Given the description of an element on the screen output the (x, y) to click on. 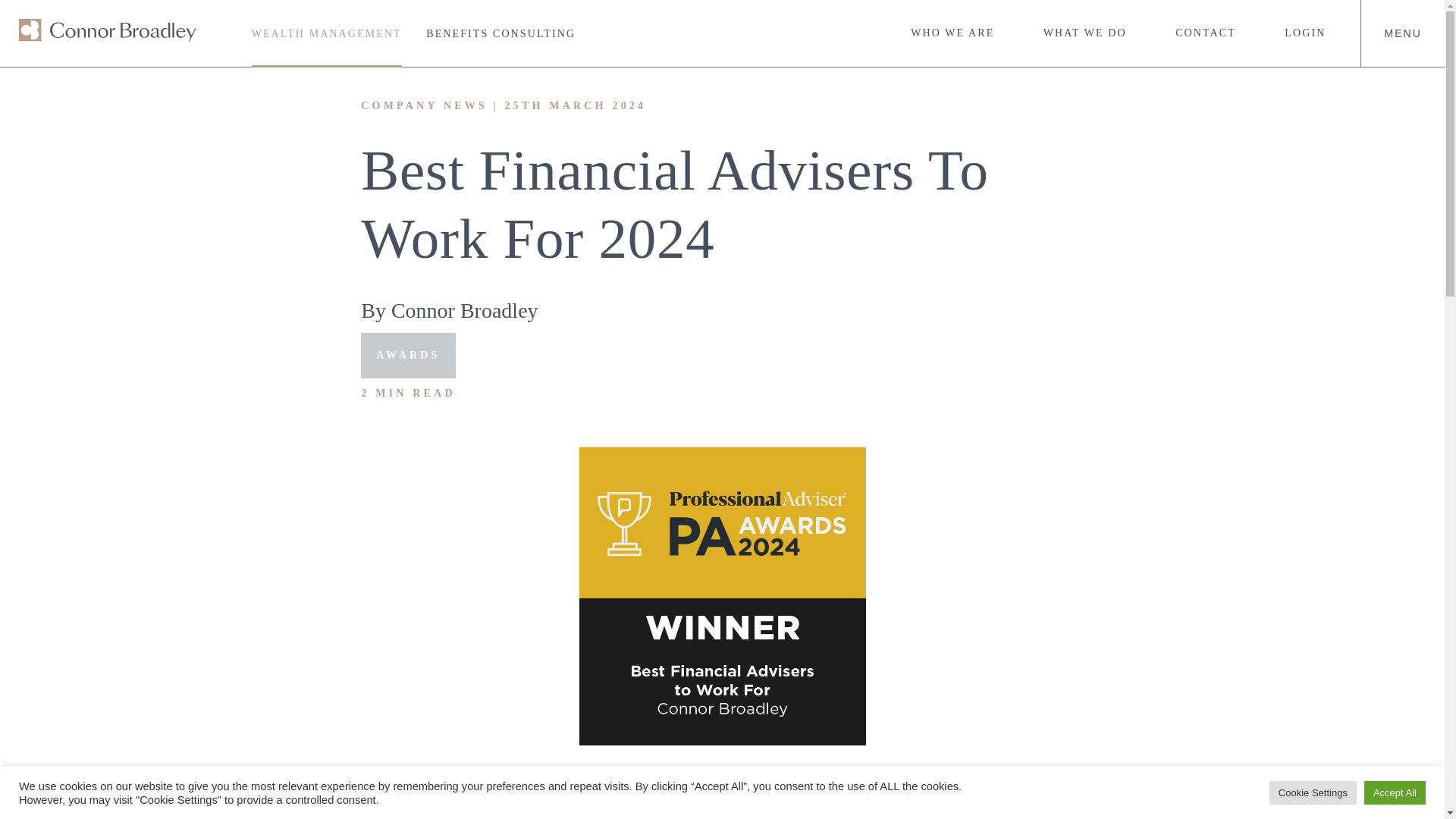
BENEFITS CONSULTING (500, 33)
WEALTH MANAGEMENT (326, 33)
